Given the description of an element on the screen output the (x, y) to click on. 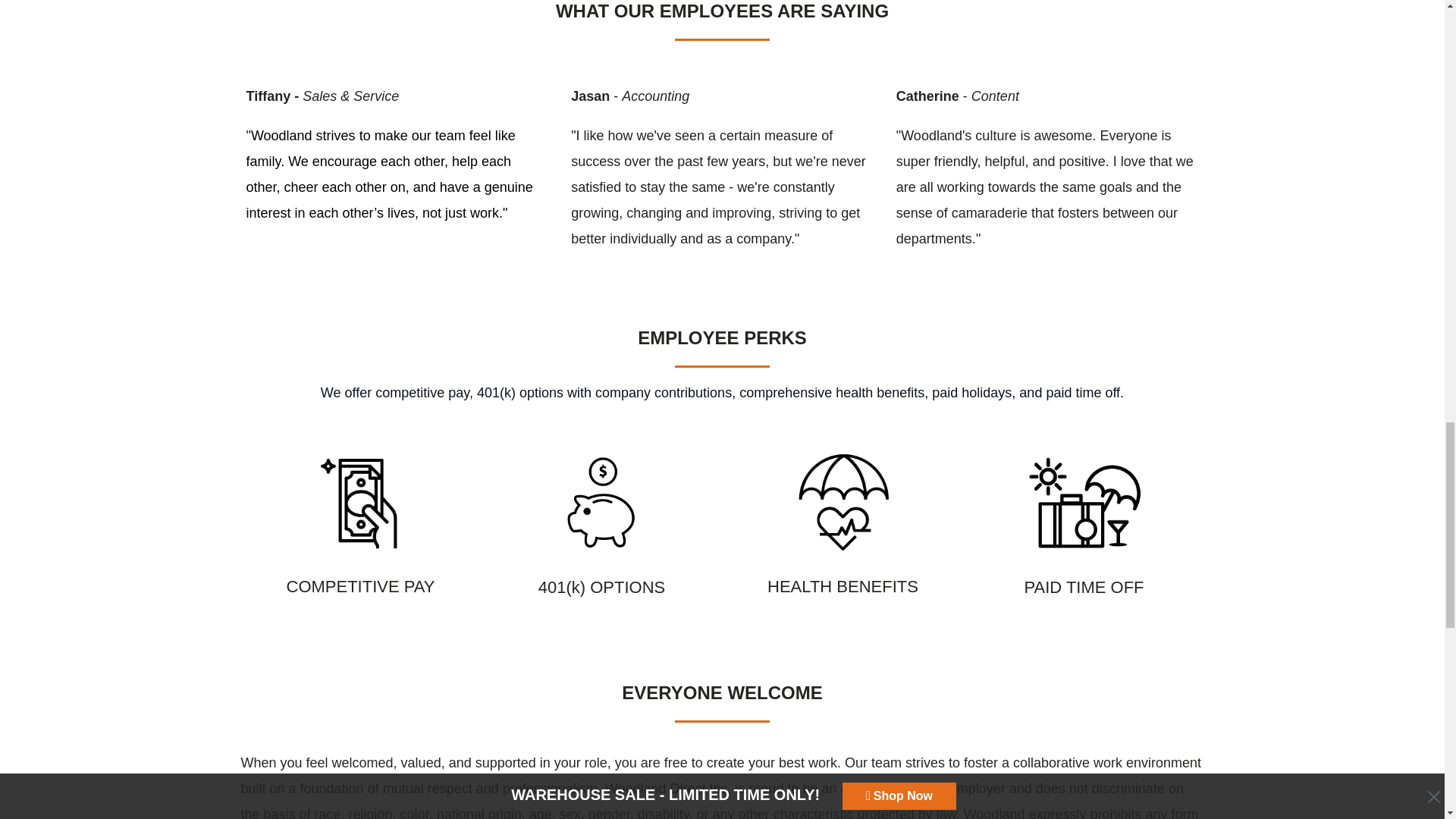
competitive pay (360, 502)
paid time off (1084, 502)
insurance options (842, 502)
payment (602, 502)
